Given the description of an element on the screen output the (x, y) to click on. 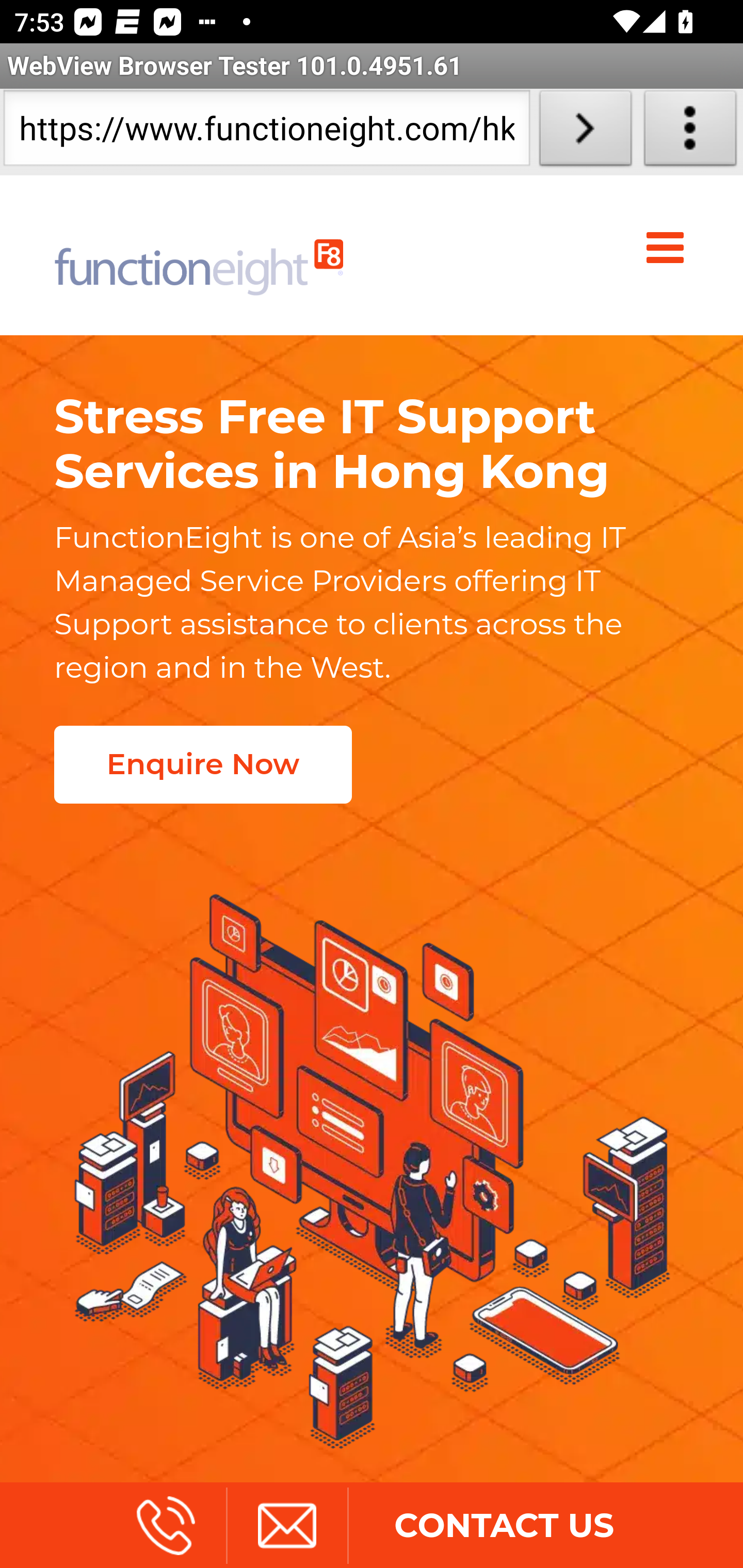
Load URL (585, 132)
About WebView (690, 132)
FunctionEight Hong Kong Logo (199, 254)
Toggle mobile menu  (668, 248)
Enquire Now (202, 764)
email (286, 1524)
CONTACT US (504, 1524)
